Given the description of an element on the screen output the (x, y) to click on. 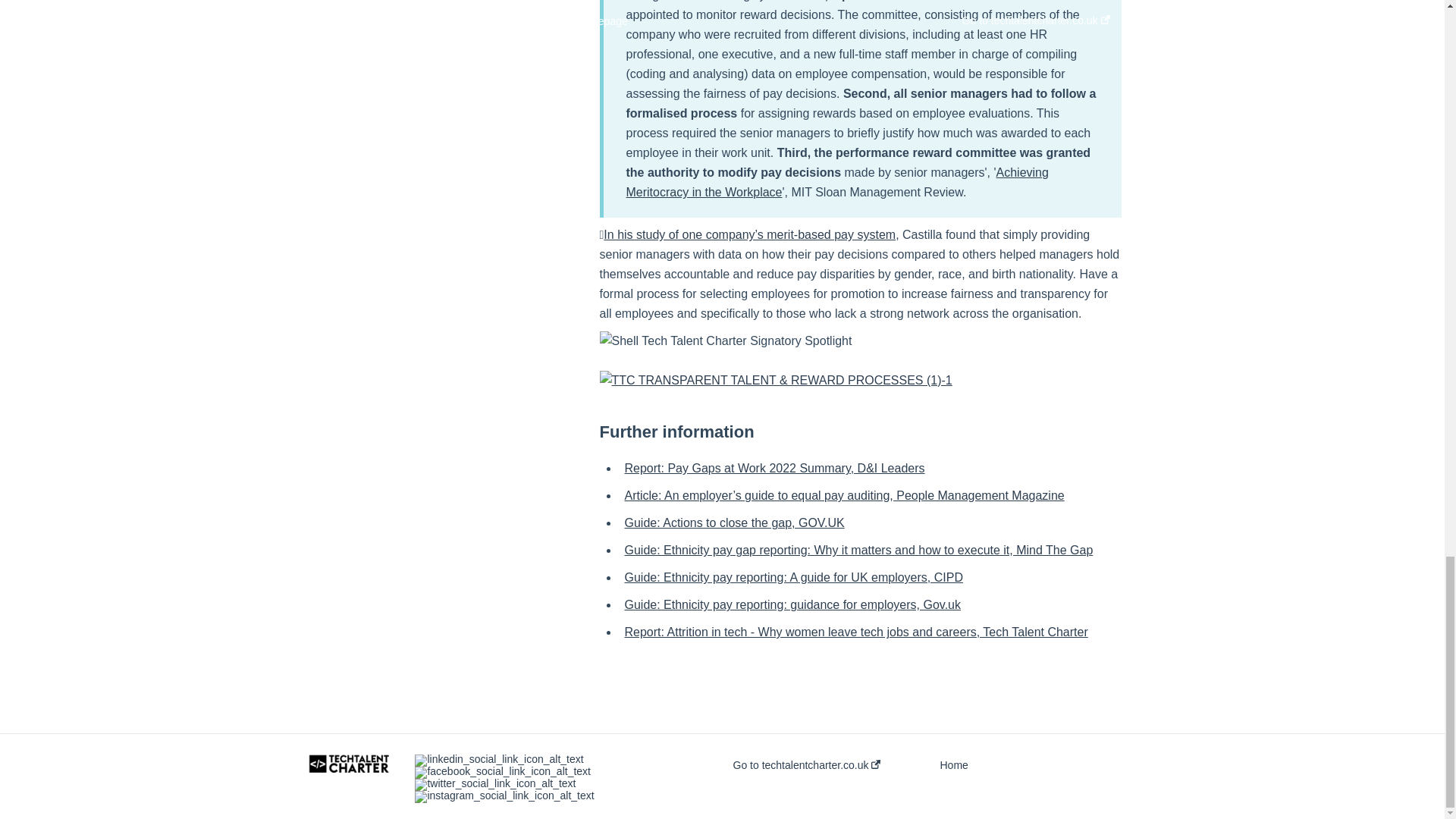
Achieving Meritocracy in the Workplace (837, 182)
Guide: Actions to close the gap, GOV.UK (734, 522)
